Given the description of an element on the screen output the (x, y) to click on. 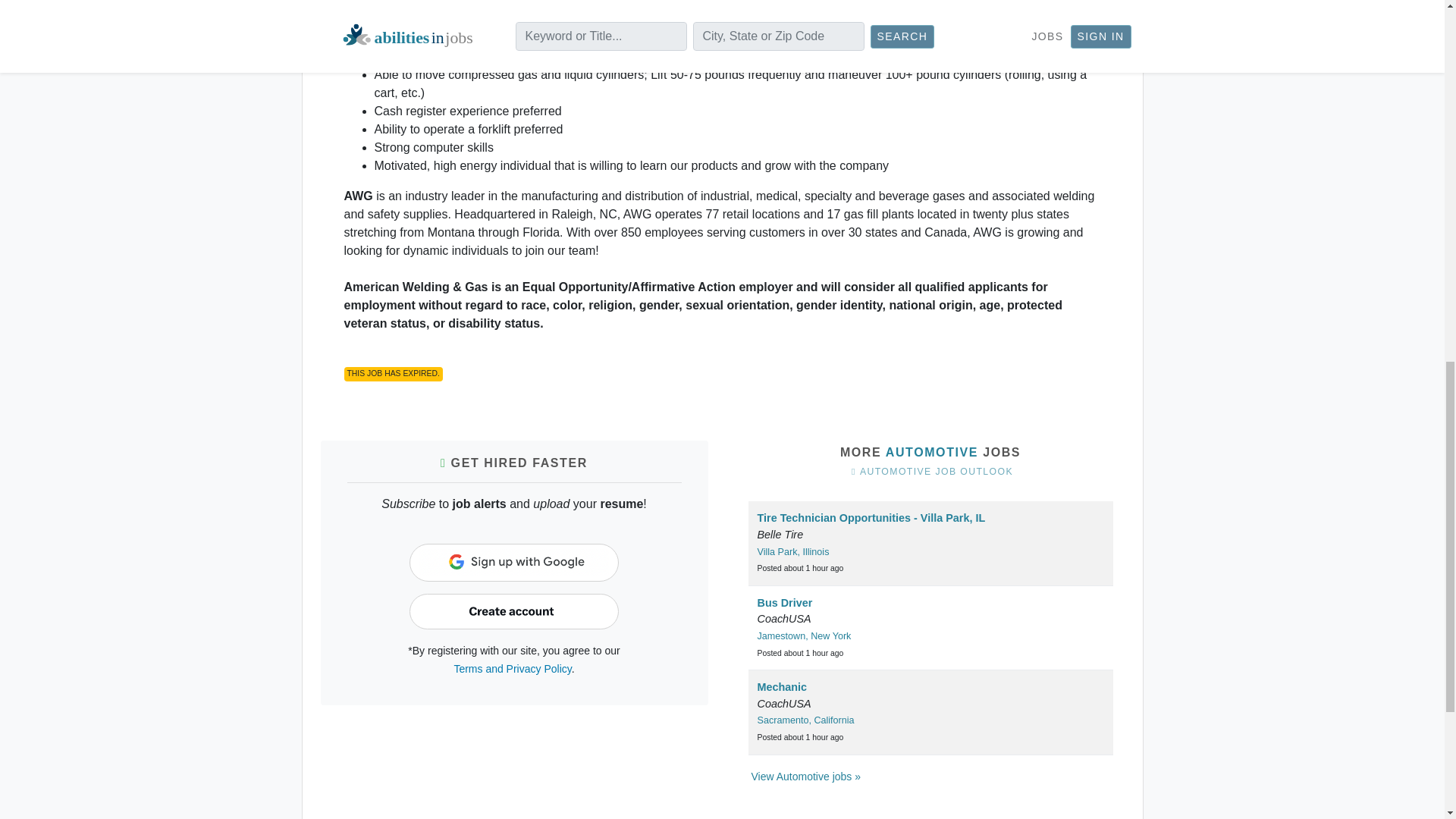
Sacramento, California (805, 719)
Terms and Privacy Policy (511, 668)
Jamestown, New York (803, 635)
Bus Driver (784, 603)
Mechanic (781, 686)
Villa Park, Illinois (792, 552)
